Given the description of an element on the screen output the (x, y) to click on. 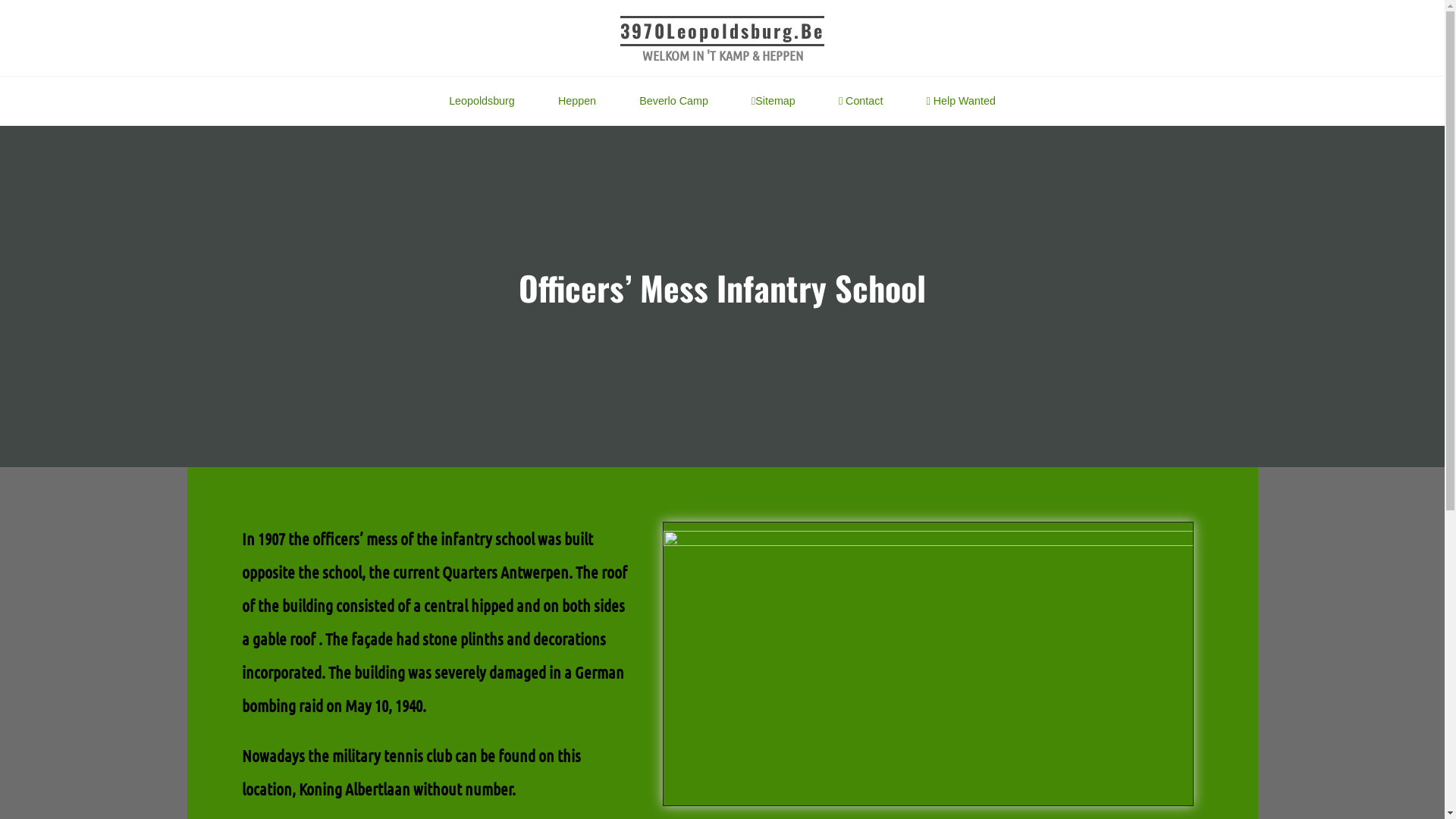
3970Leopoldsburg.Be Element type: text (722, 29)
Heppen Element type: text (576, 100)
Leopoldsburg Element type: text (481, 100)
Beverlo Camp Element type: text (674, 100)
